Given the description of an element on the screen output the (x, y) to click on. 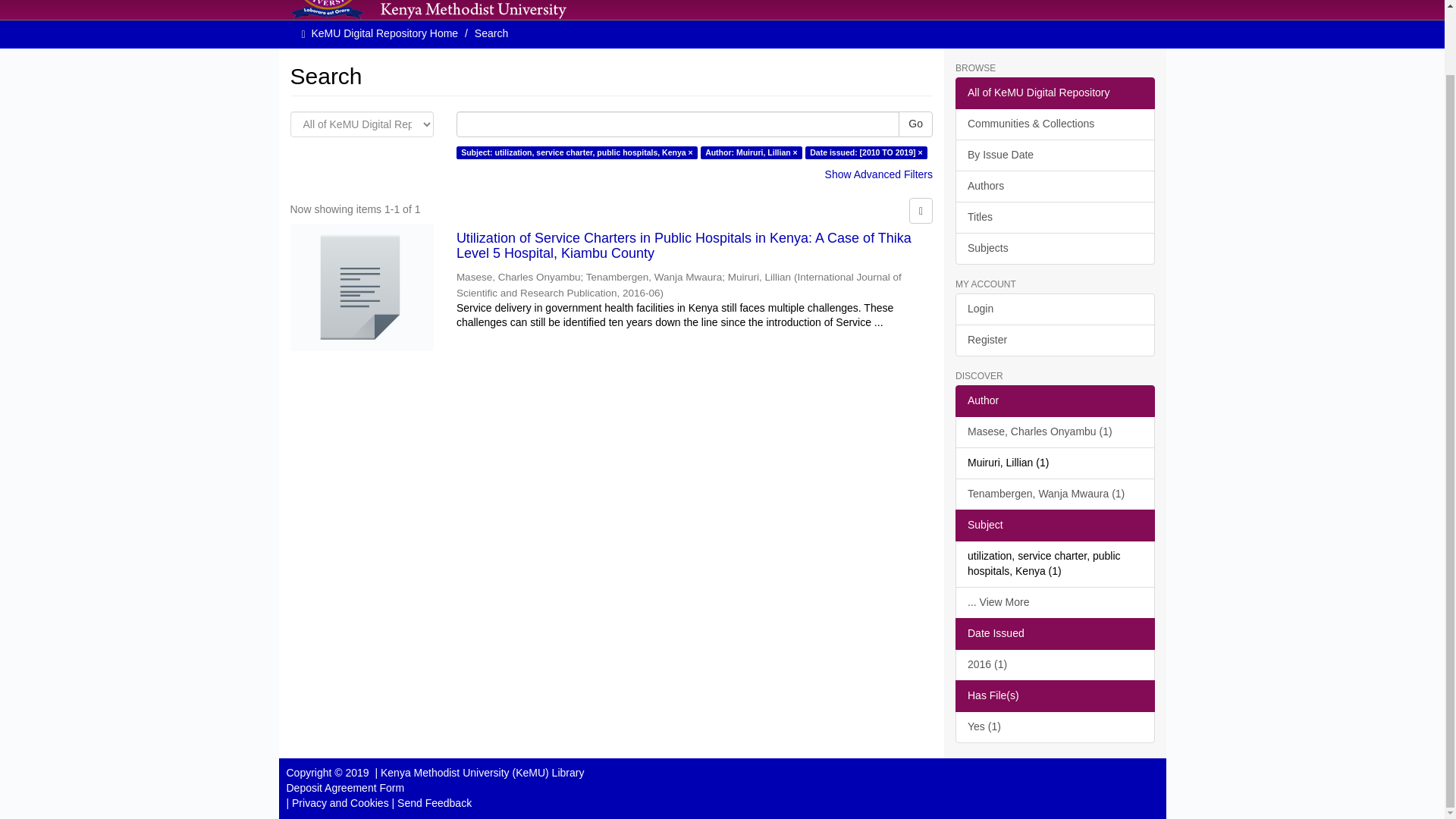
Go (915, 124)
Privacy and Cookies (340, 802)
Show Advanced Filters (879, 174)
KeMU Digital Repository Home (384, 33)
